Given the description of an element on the screen output the (x, y) to click on. 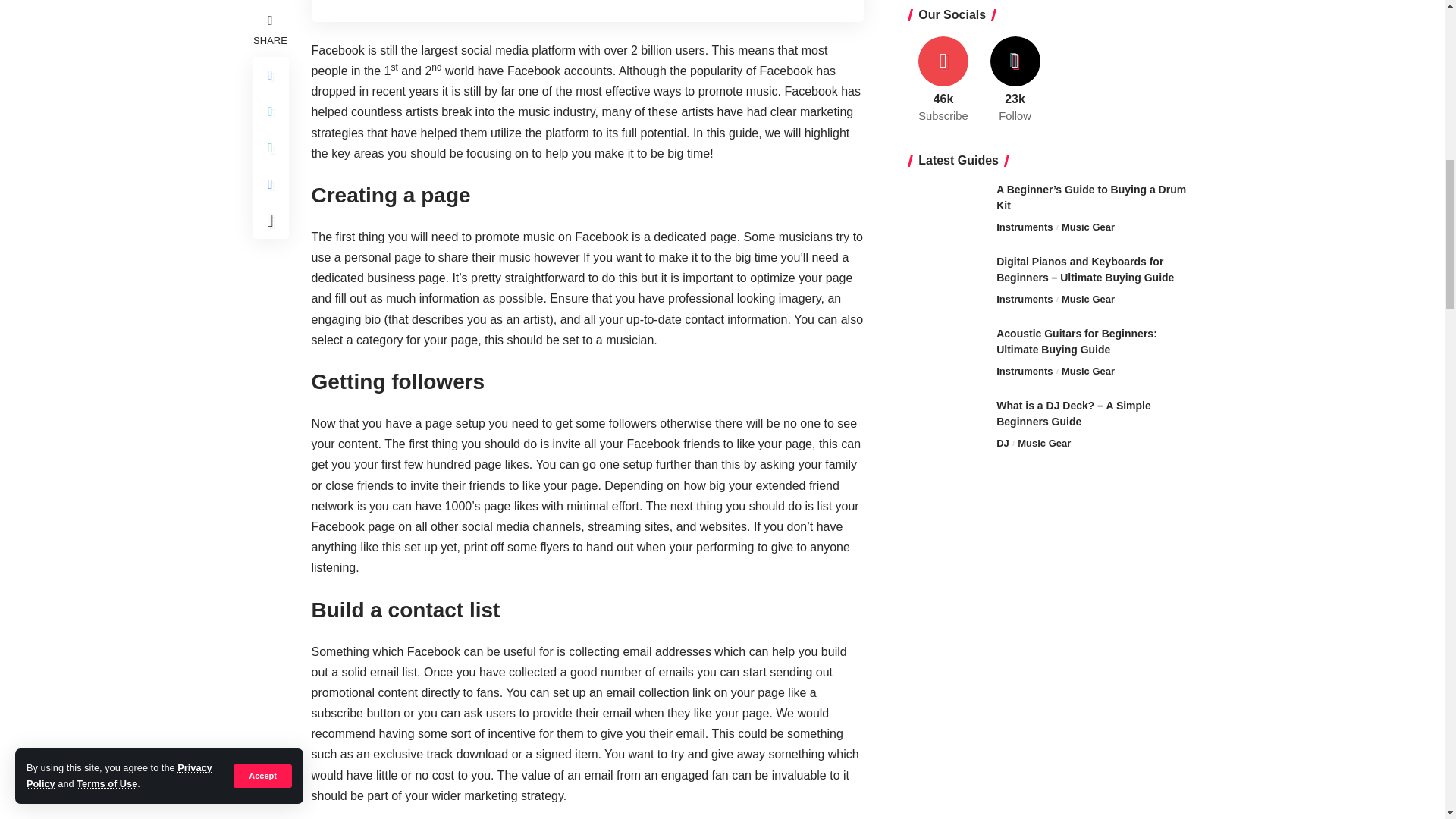
Acoustic Guitars for Beginners: Ultimate Buying Guide (946, 106)
